Given the description of an element on the screen output the (x, y) to click on. 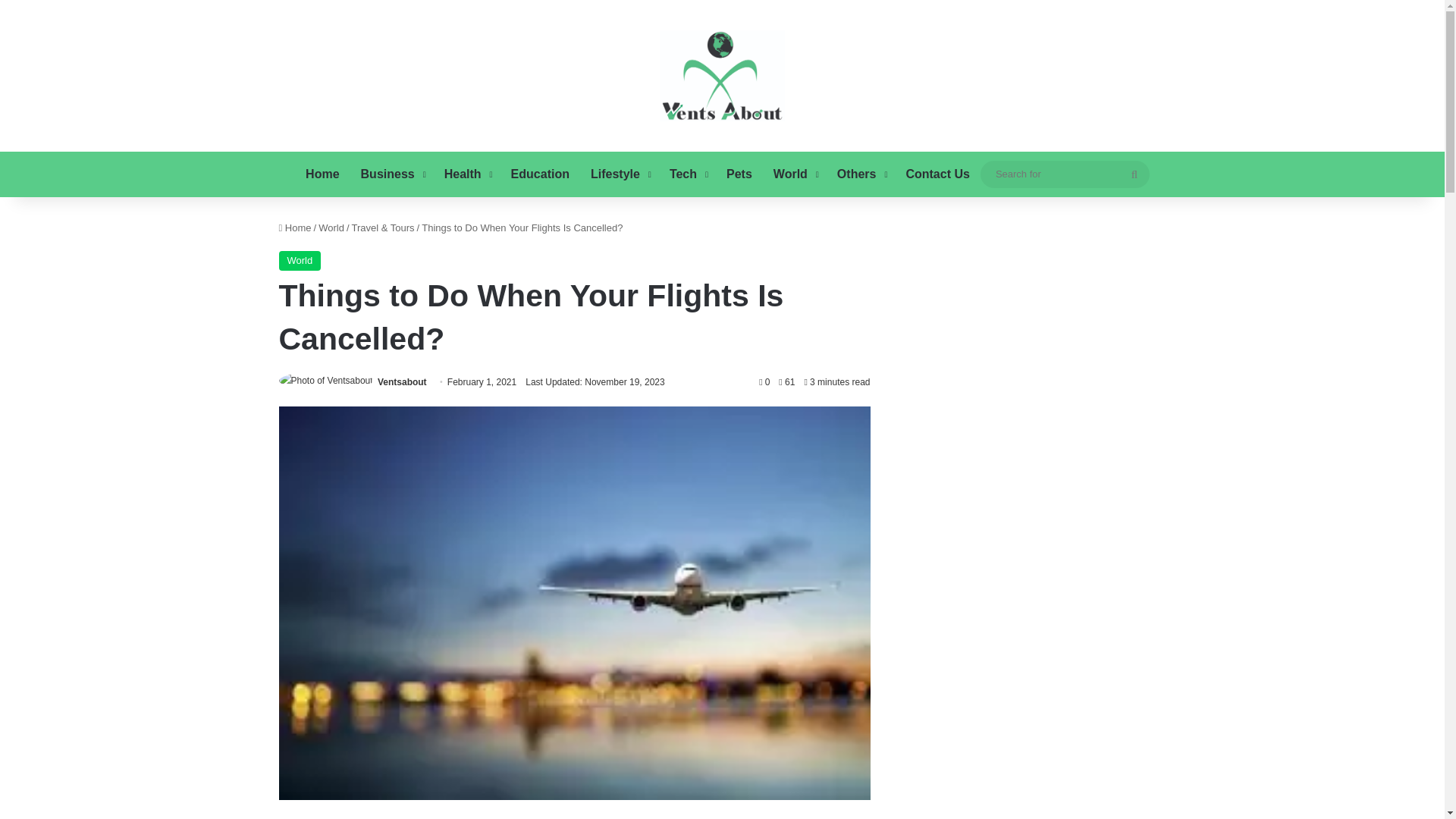
Search for (1064, 173)
World (330, 227)
Contact Us (937, 174)
Business (391, 174)
Search for (1134, 174)
Tech (687, 174)
Others (861, 174)
Vents About (722, 75)
World (794, 174)
Home (322, 174)
Health (466, 174)
Lifestyle (619, 174)
Home (295, 227)
Ventsabout (401, 381)
Ventsabout (401, 381)
